Given the description of an element on the screen output the (x, y) to click on. 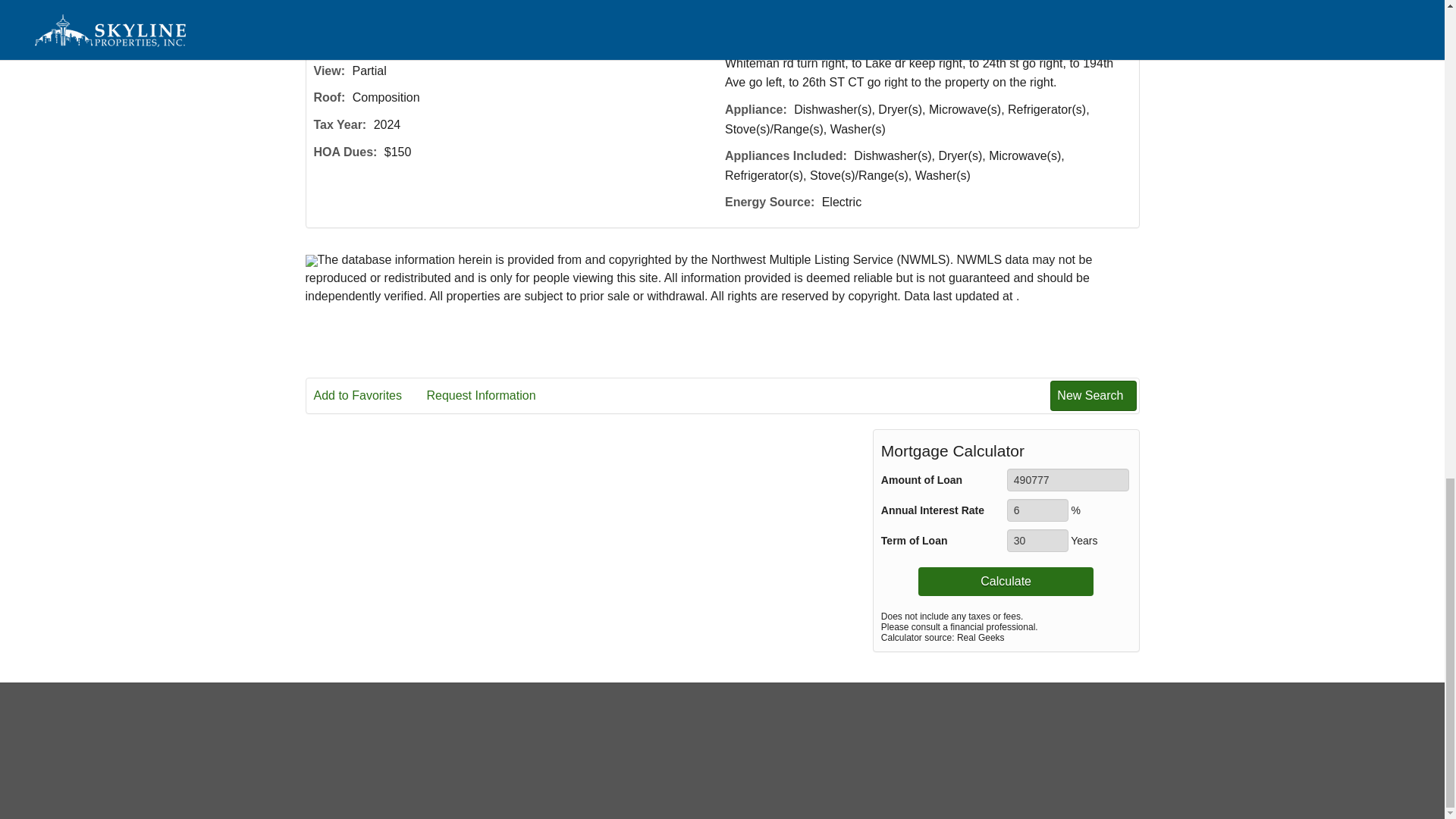
490777 (1068, 479)
30 (1037, 540)
6 (1037, 509)
